Given the description of an element on the screen output the (x, y) to click on. 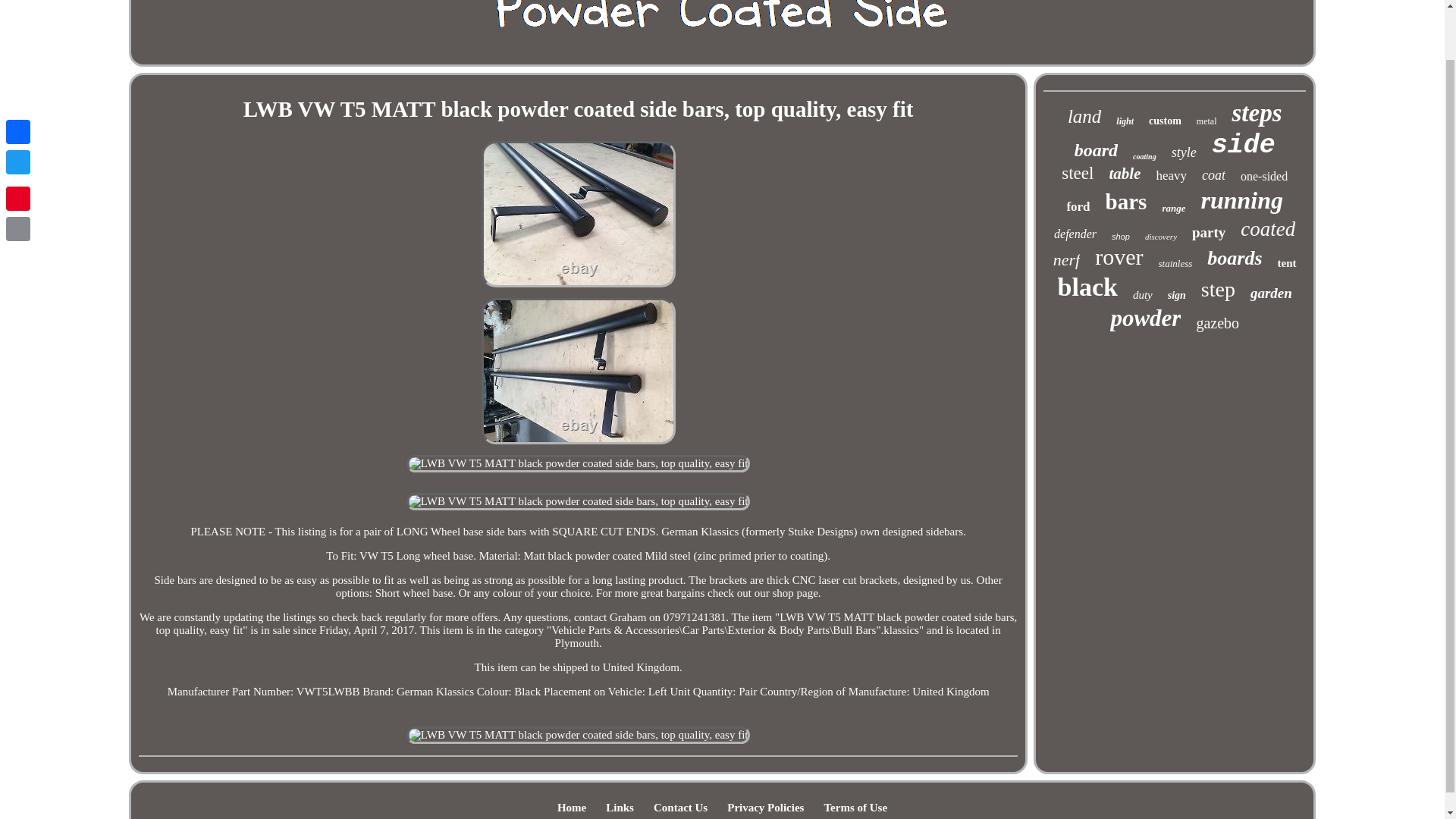
side (1243, 145)
steps (1256, 113)
shop (1120, 235)
defender (1075, 233)
rover (1118, 257)
Email (17, 173)
steel (1077, 173)
light (1125, 121)
coat (1213, 175)
style (1184, 152)
Twitter (17, 107)
metal (1206, 121)
land (1083, 116)
